Given the description of an element on the screen output the (x, y) to click on. 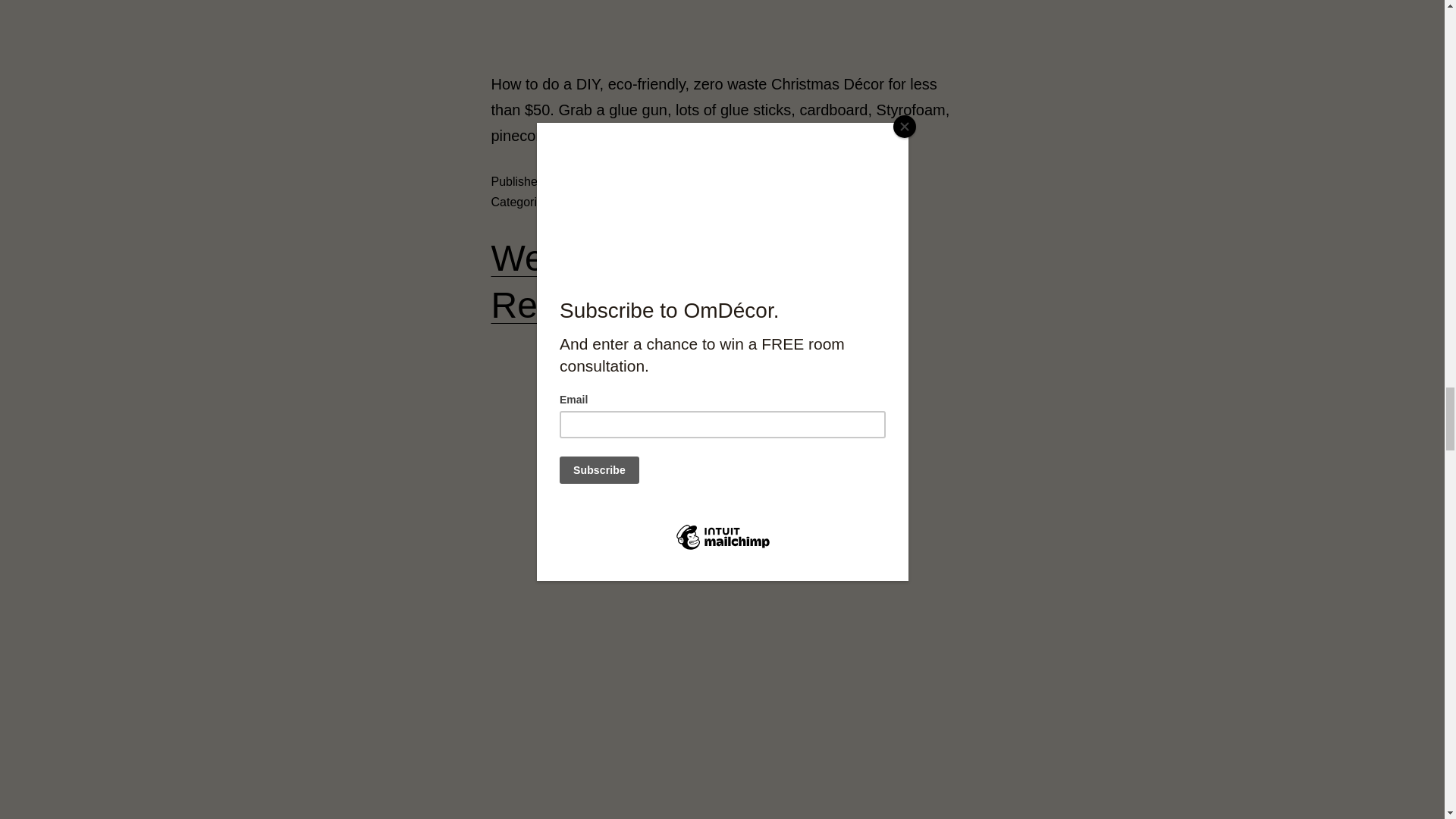
Uncategorized (614, 201)
